Given the description of an element on the screen output the (x, y) to click on. 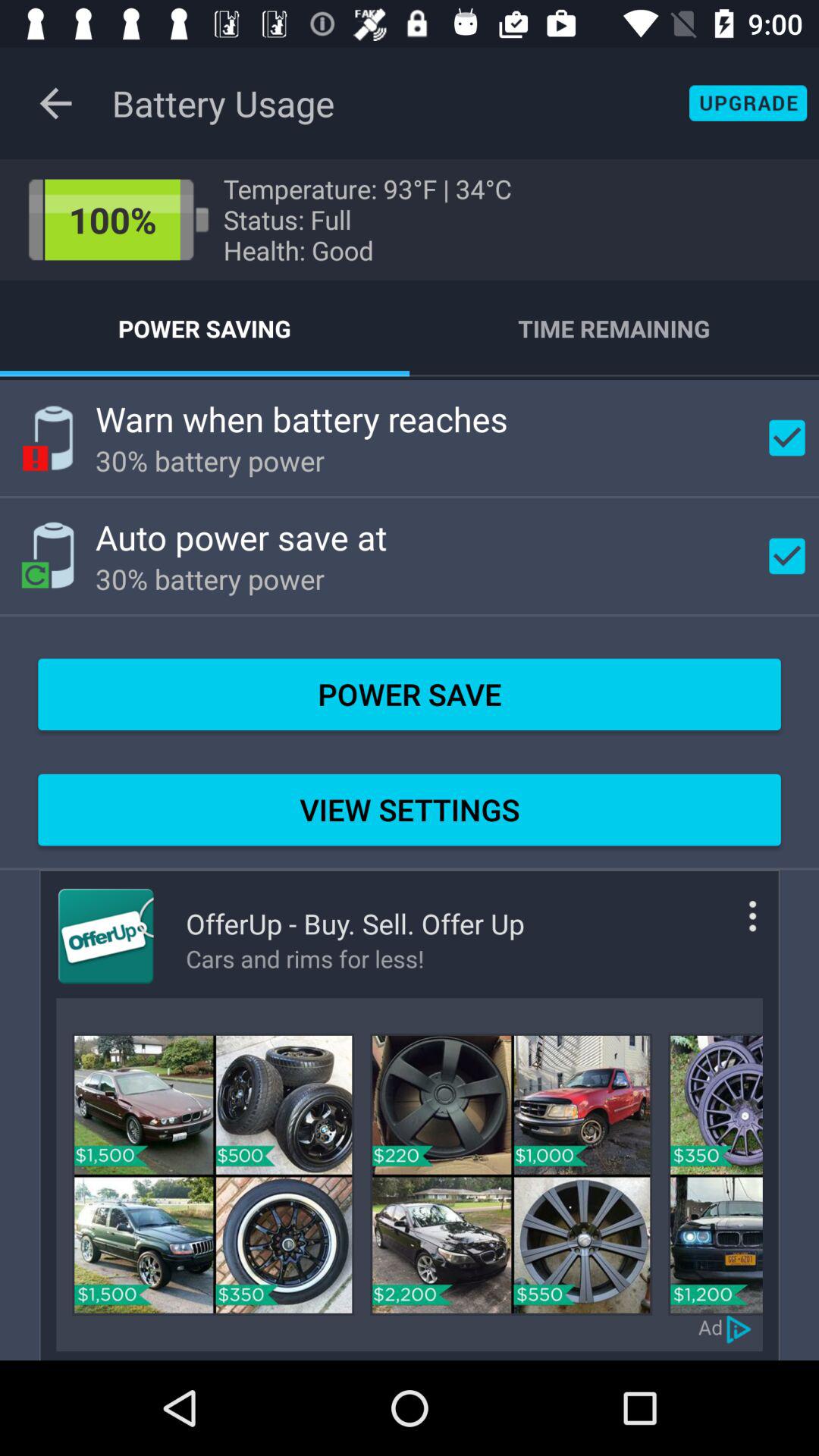
click products to view (213, 1174)
